Given the description of an element on the screen output the (x, y) to click on. 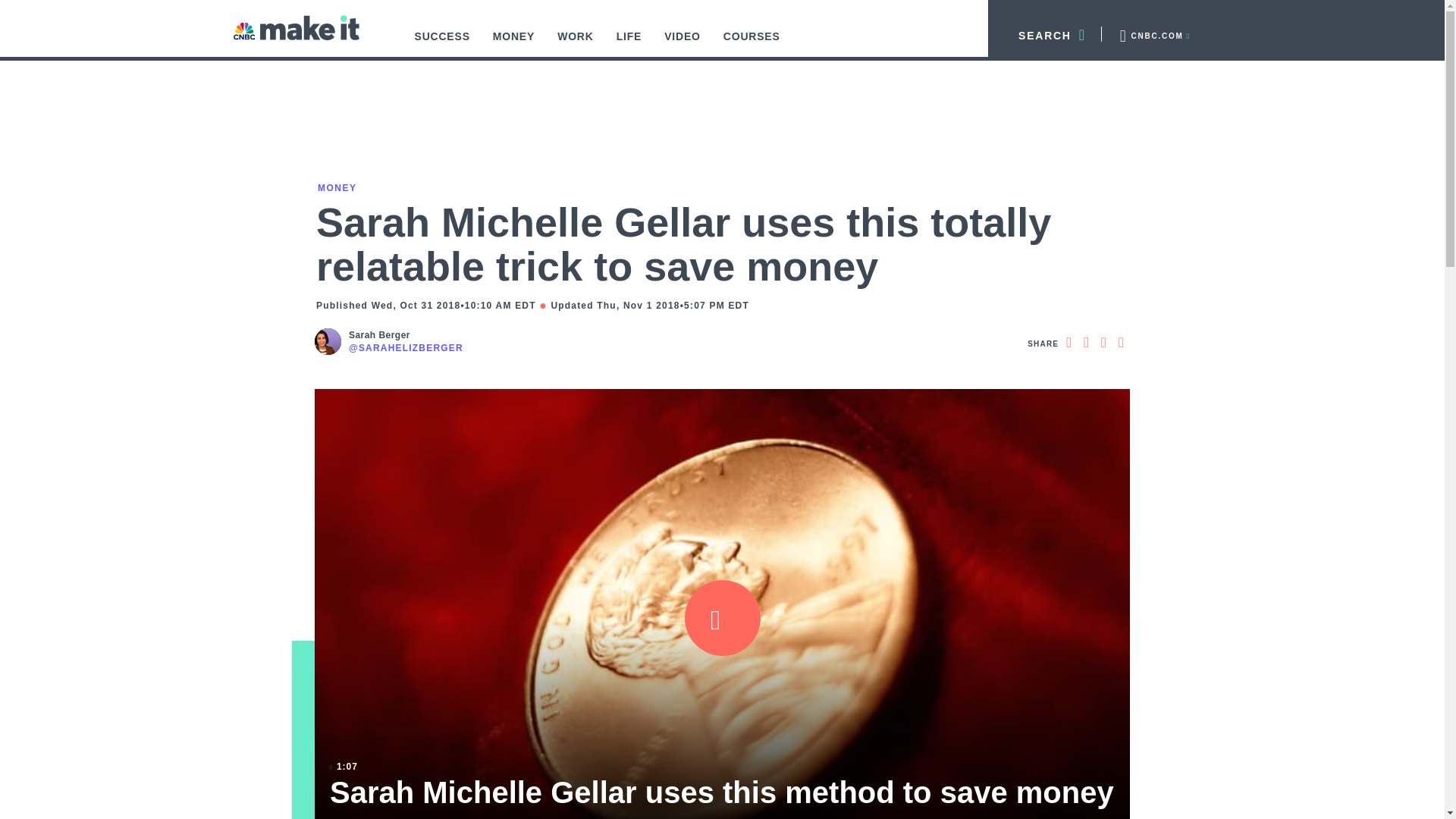
MONEY (513, 44)
Share Article via Email (1120, 342)
SUCCESS (442, 44)
Sarah Berger (406, 335)
SEARCH (1045, 33)
Share Article via Facebook (1068, 342)
VIDEO (681, 44)
Share Article via Twitter (1085, 342)
MONEY (335, 187)
CNBC.COM (1153, 33)
